Given the description of an element on the screen output the (x, y) to click on. 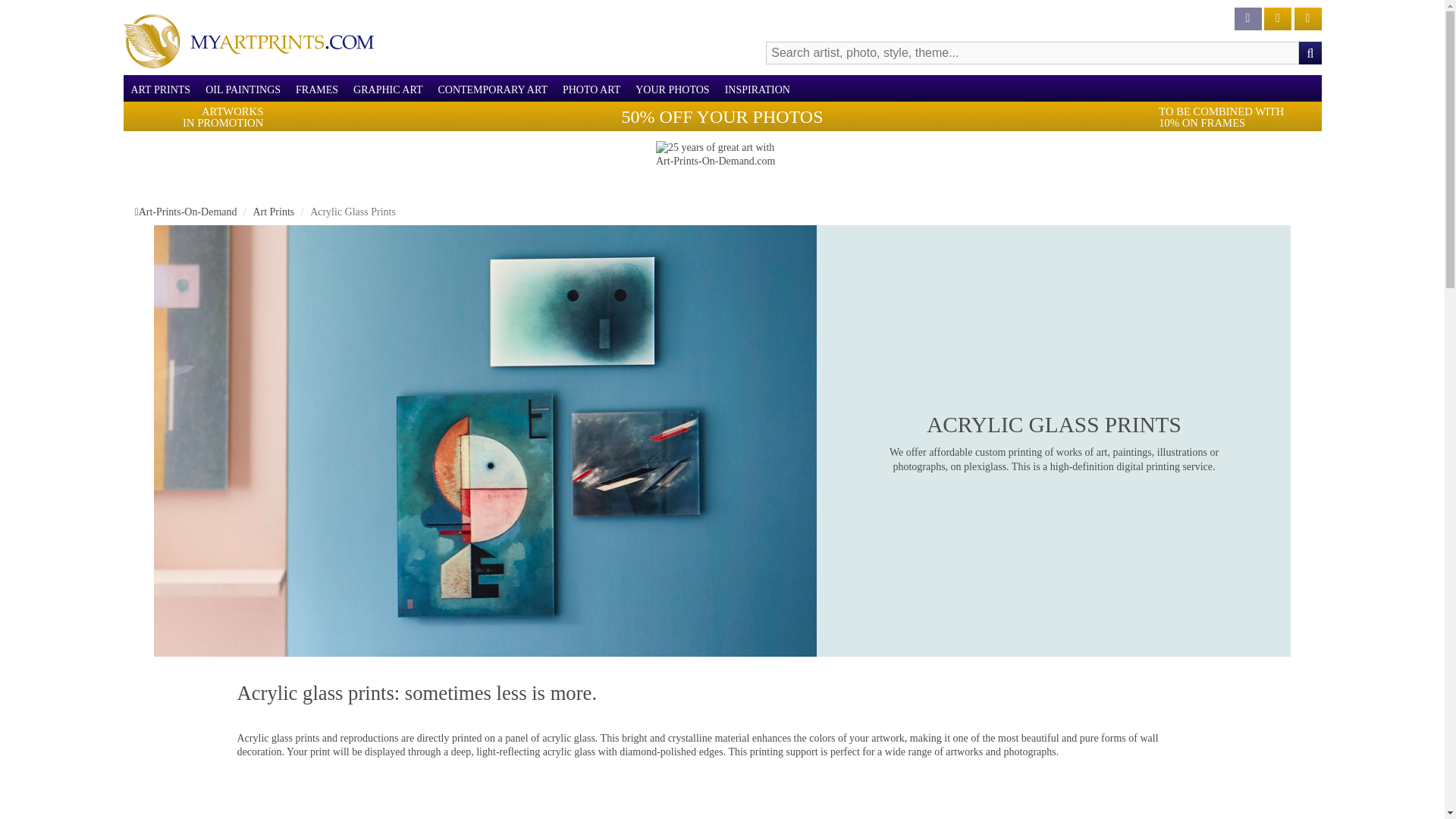
Fine Art Prints On Demand (247, 40)
Name, title, style (1309, 52)
ART PRINTS (160, 89)
25 years of great art with Art-Prints-On-Demand.com (722, 159)
